Given the description of an element on the screen output the (x, y) to click on. 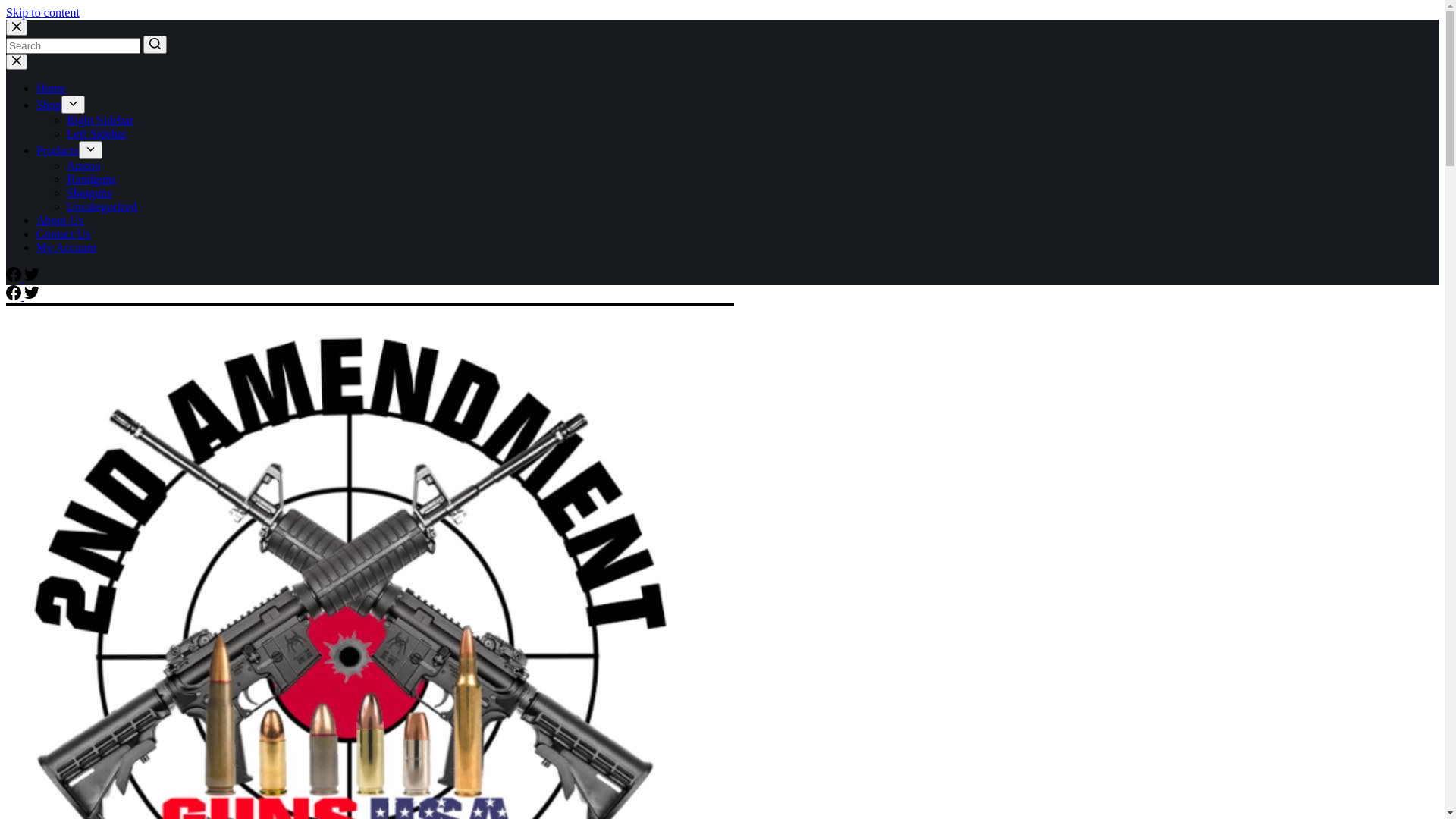
Left Sidebar Element type: text (96, 133)
My Account Element type: text (66, 247)
Skip to content Element type: text (42, 12)
Handguns Element type: text (91, 178)
Shop Element type: text (48, 104)
Shotguns Element type: text (89, 192)
Contact Us Element type: text (63, 233)
Home Element type: text (50, 87)
Ammo Element type: text (83, 165)
Uncategorized Element type: text (101, 206)
About Us Element type: text (59, 219)
Products Element type: text (57, 150)
Right Sidebar Element type: text (99, 119)
Search Input Element type: hover (73, 45)
